Given the description of an element on the screen output the (x, y) to click on. 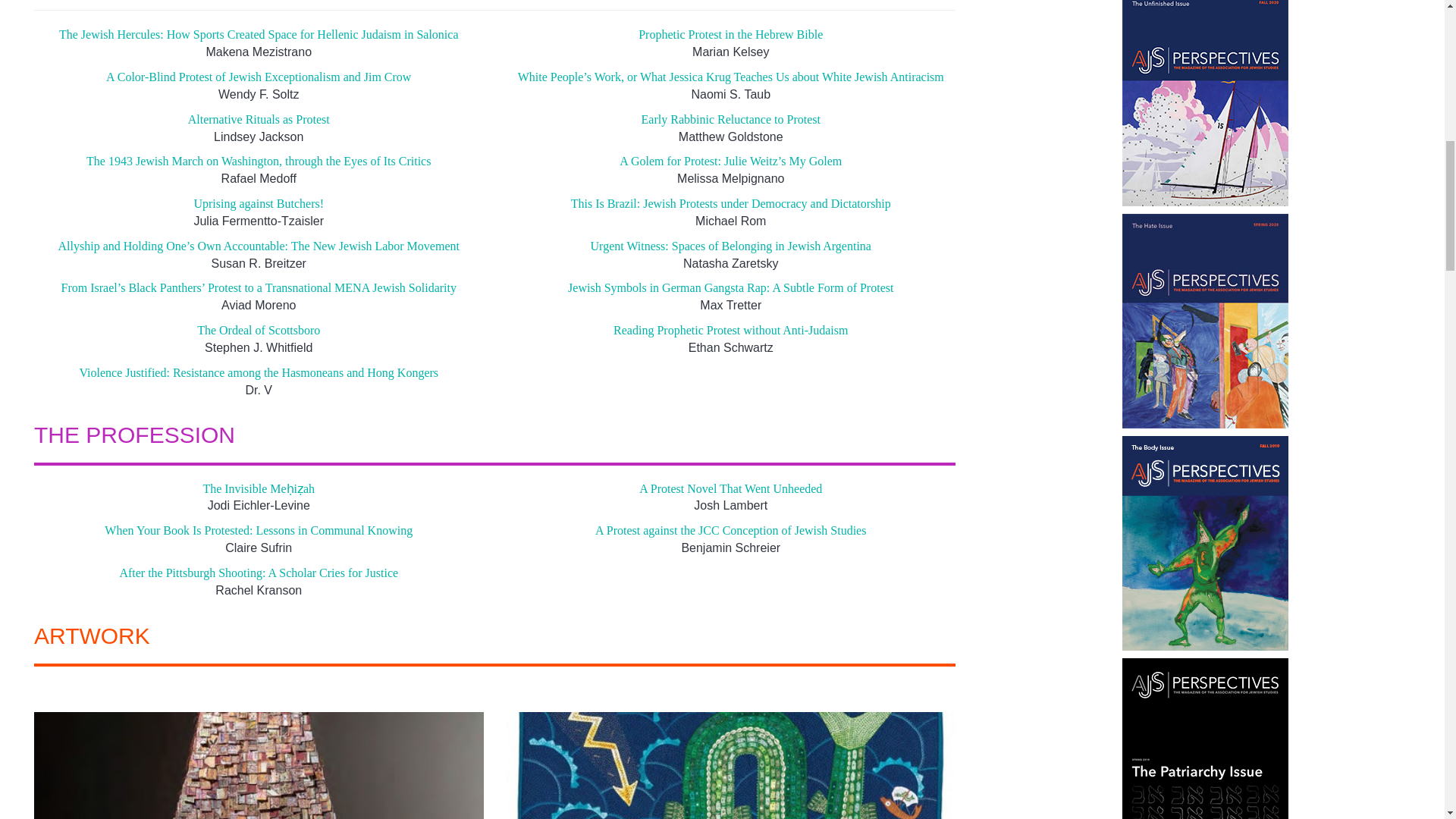
ANDI ARNOVITZ (258, 765)
LINDA BAR-ON (731, 765)
